Given the description of an element on the screen output the (x, y) to click on. 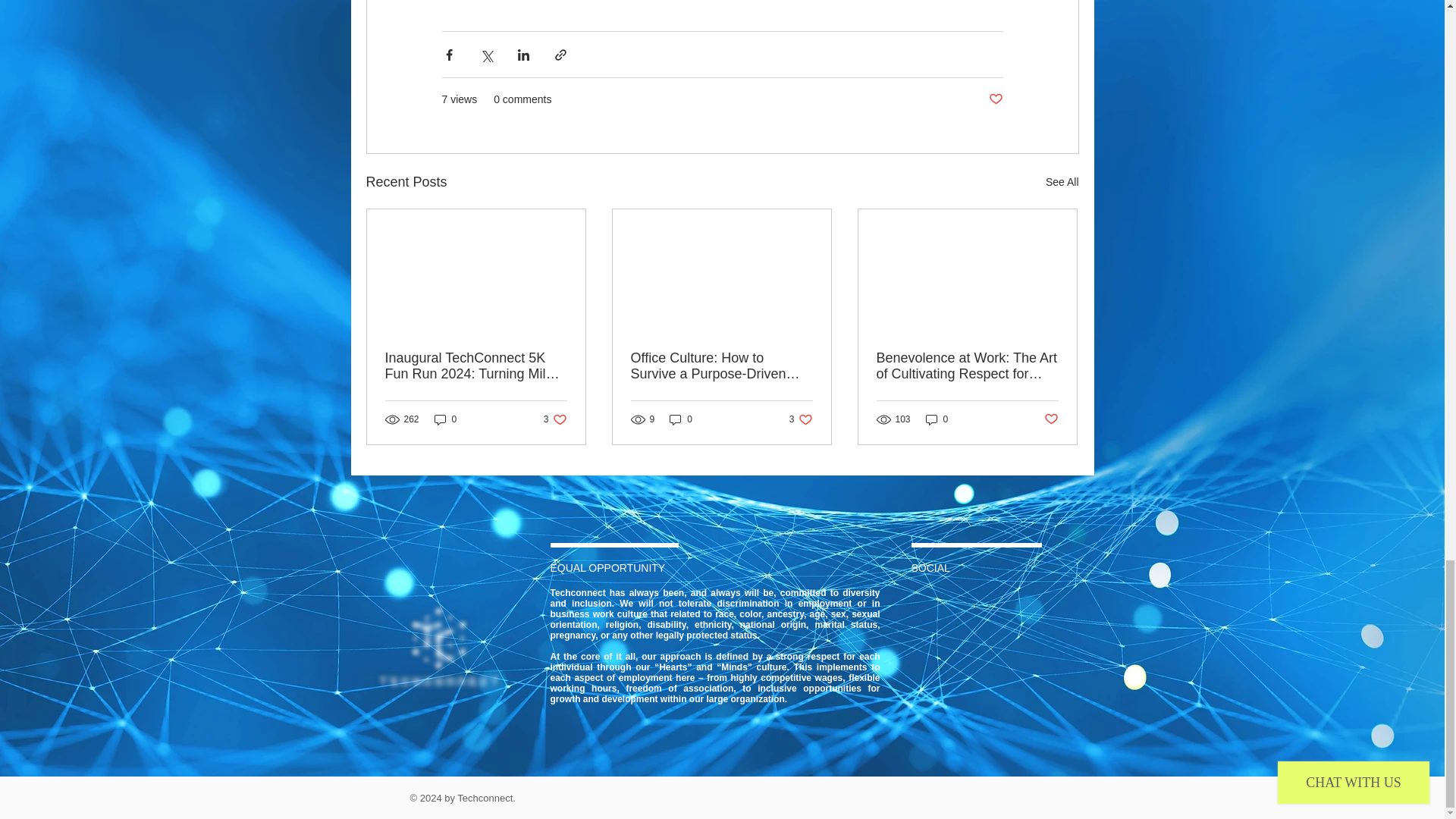
0 (681, 419)
0 (445, 419)
Post not marked as liked (555, 419)
See All (800, 419)
Office Culture: How to Survive a Purpose-Driven Culture (995, 99)
Post not marked as liked (1061, 182)
0 (721, 366)
